Given the description of an element on the screen output the (x, y) to click on. 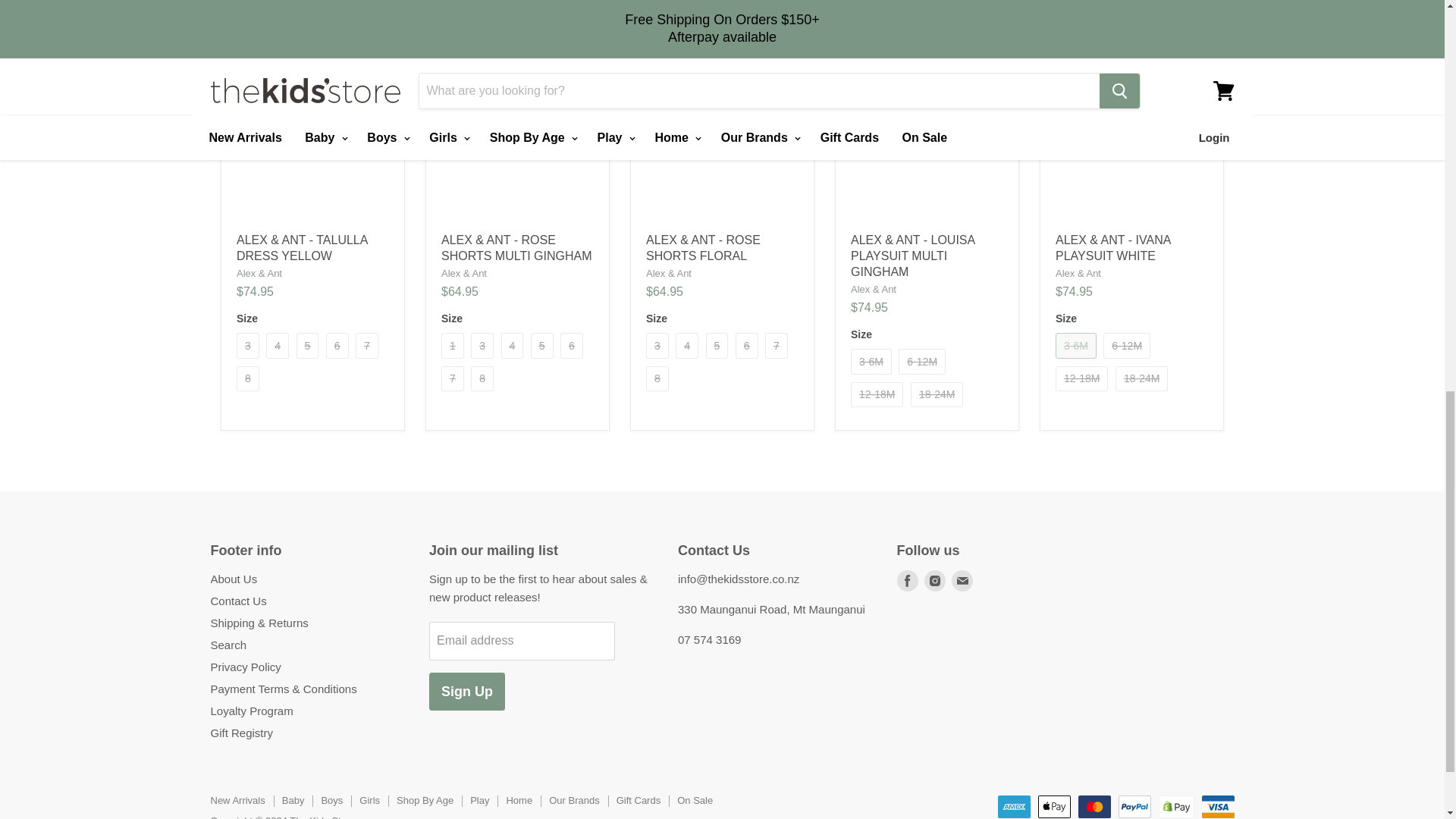
Instagram (933, 580)
Facebook (906, 580)
E-mail (961, 580)
